Given the description of an element on the screen output the (x, y) to click on. 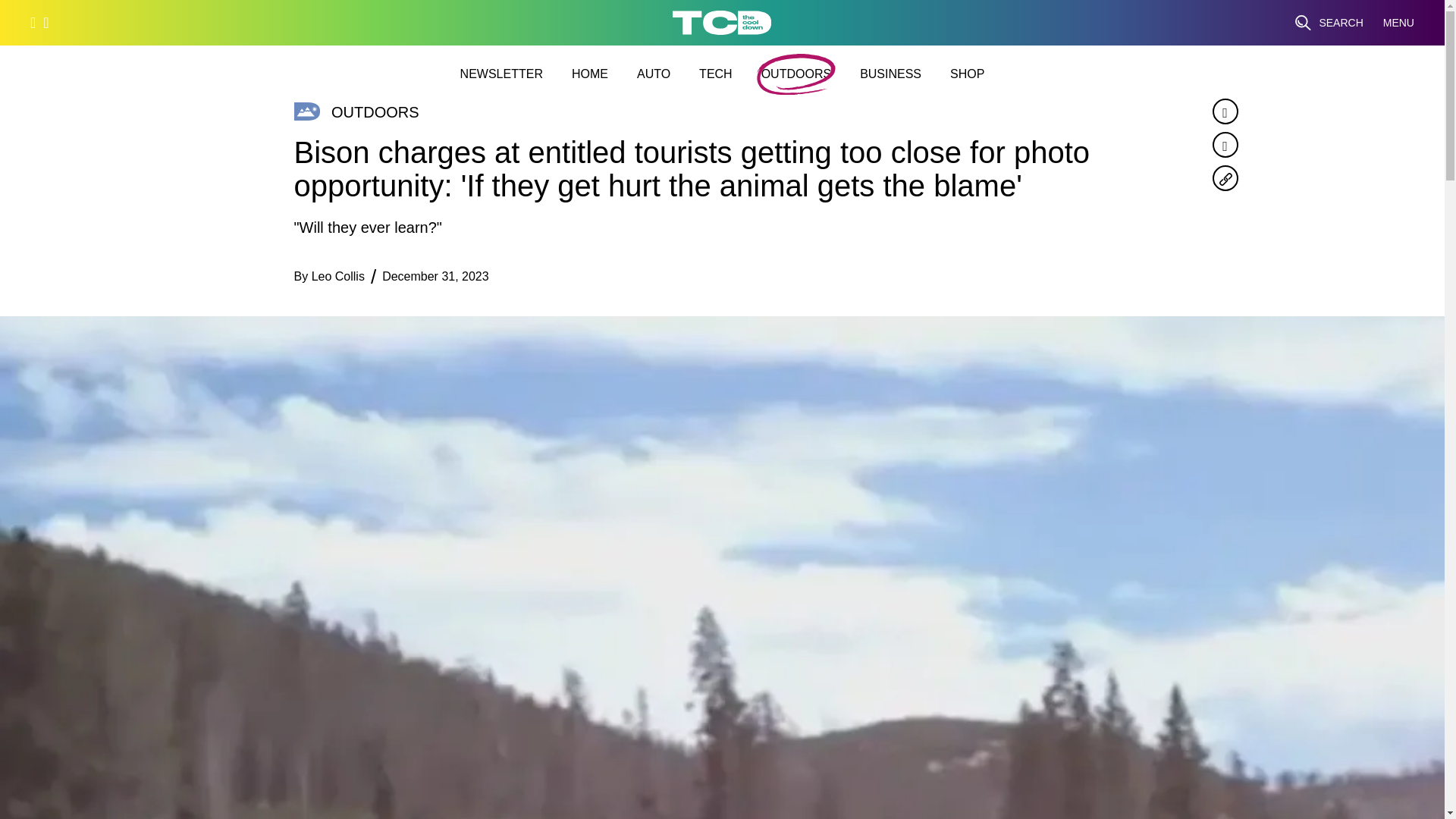
Facebook (1224, 111)
SHOP (967, 73)
TECH (715, 73)
BUSINESS (890, 73)
NEWSLETTER (501, 73)
HOME (590, 73)
OUTDOORS (796, 73)
Twitter (1224, 144)
SEARCH (1328, 22)
MENU (1398, 22)
